Given the description of an element on the screen output the (x, y) to click on. 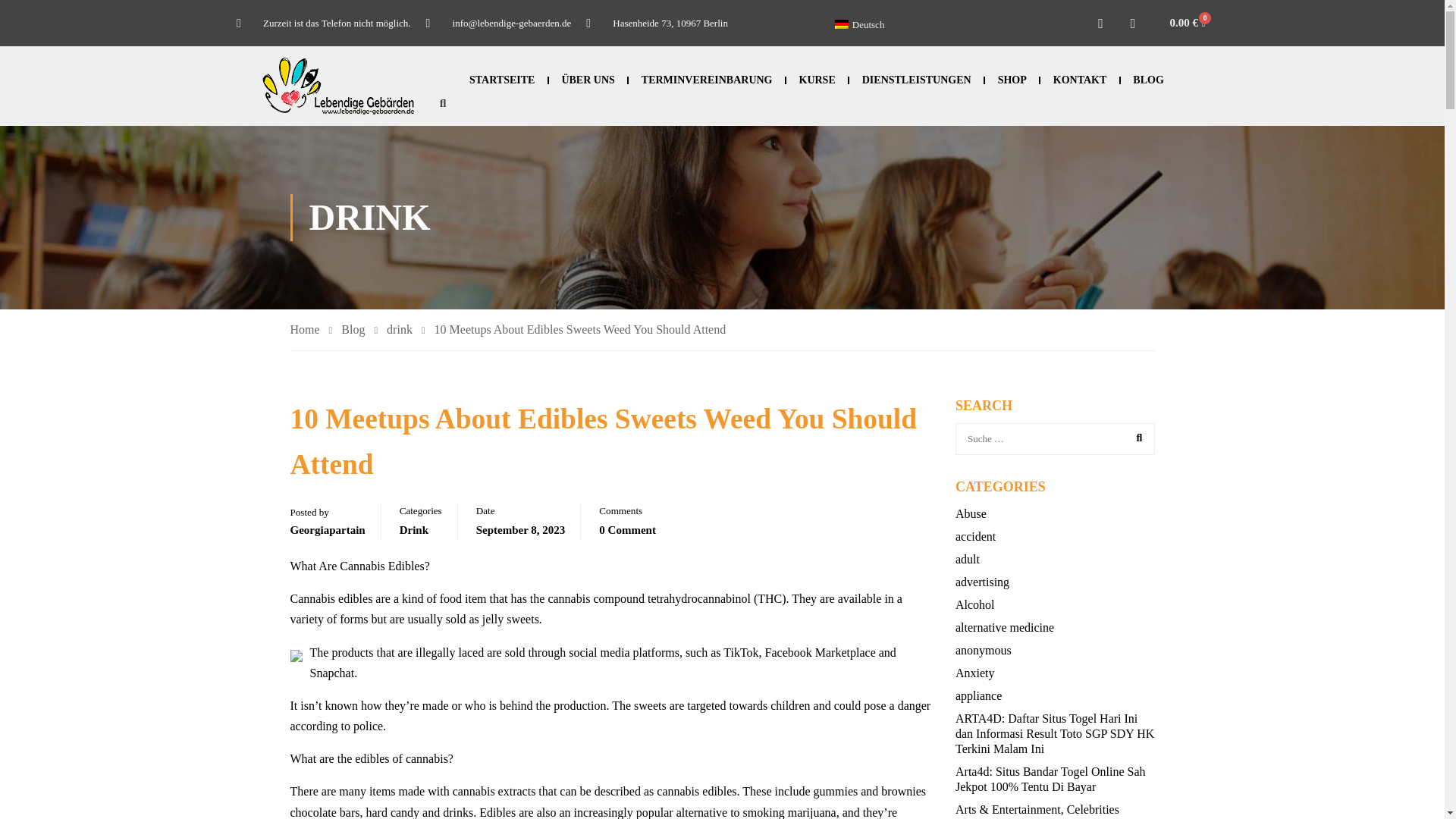
DIENSTLEISTUNGEN (916, 79)
Suche (1135, 438)
Drink (413, 530)
Georgiapartain (327, 530)
BLOG (1149, 79)
drink (406, 330)
KONTAKT (1079, 79)
Home (310, 330)
Suche (1135, 438)
KURSE (817, 79)
